Given the description of an element on the screen output the (x, y) to click on. 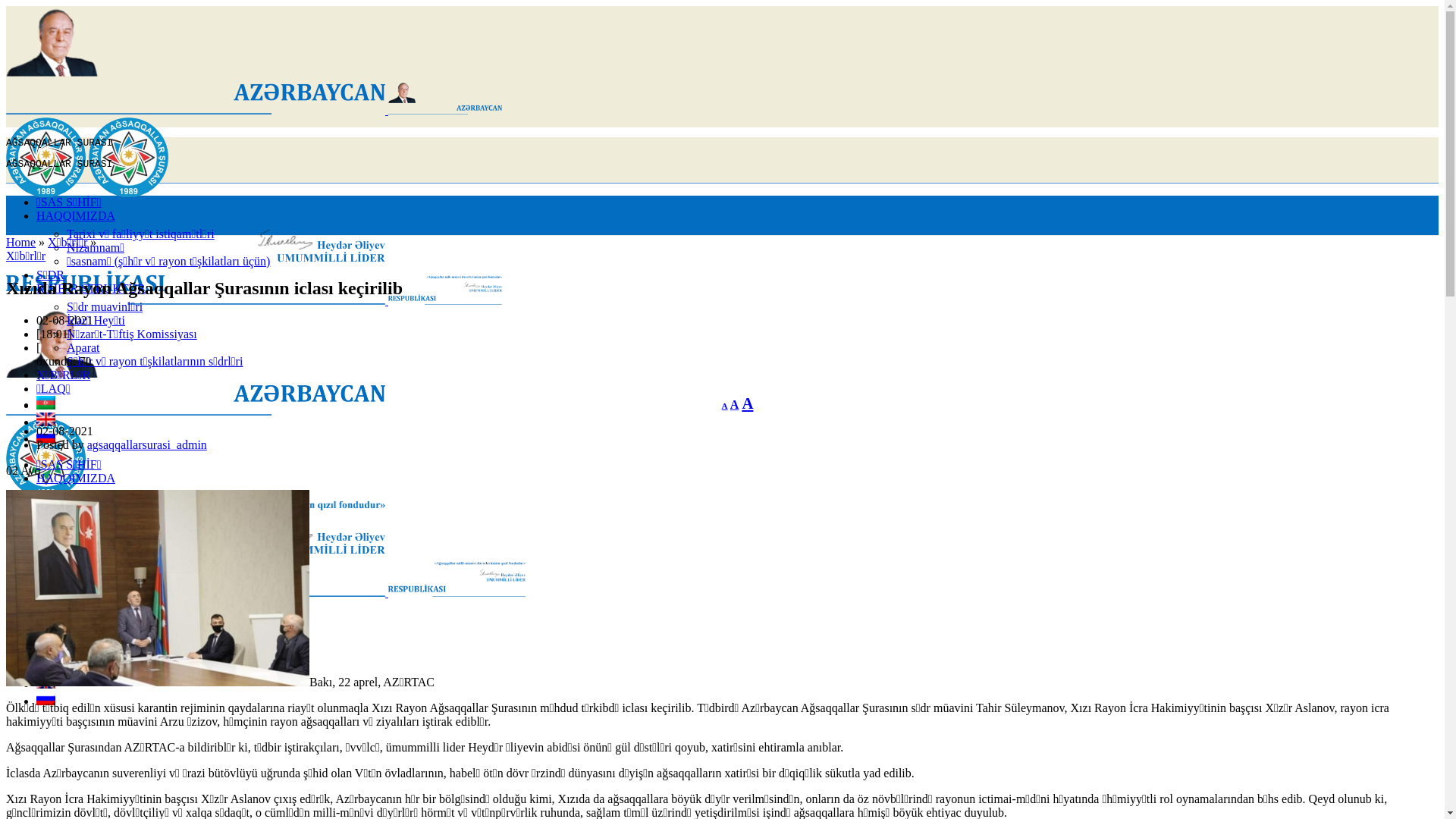
A
Decrease font size. Element type: text (724, 405)
A
Reset font size. Element type: text (734, 404)
Home Element type: text (20, 241)
agsaqqallarsurasi_admin Element type: text (147, 444)
Aparat Element type: text (83, 609)
HAQQIMIZDA Element type: text (75, 477)
Aparat Element type: text (83, 347)
A
Increase font size. Element type: text (747, 402)
HAQQIMIZDA Element type: text (75, 215)
02 Avq Element type: text (722, 470)
